Given the description of an element on the screen output the (x, y) to click on. 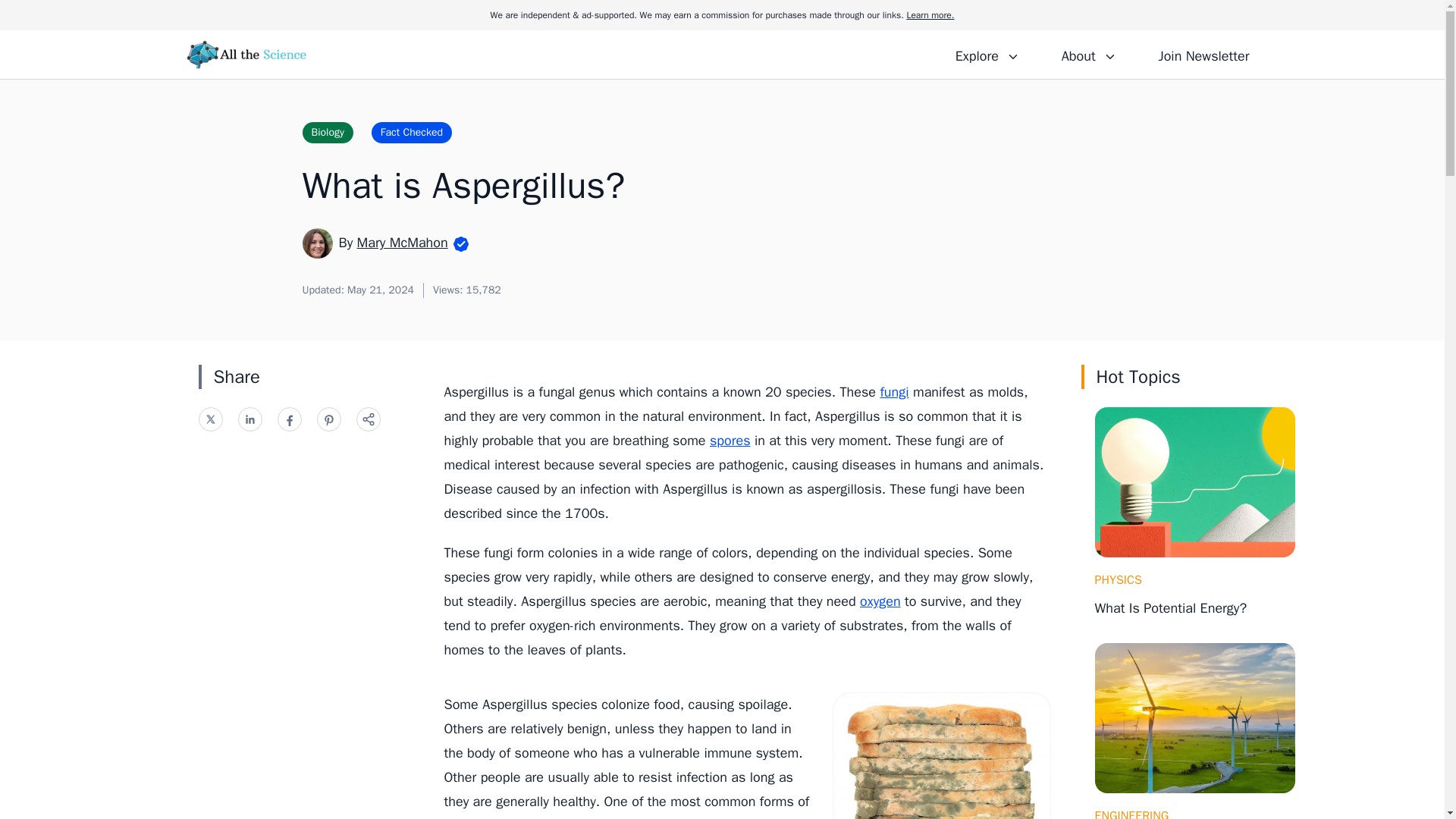
Join Newsletter (1202, 54)
Mary McMahon (402, 242)
Biology (326, 132)
oxygen (880, 600)
fungi (893, 392)
Learn more. (929, 15)
About (1088, 54)
Fact Checked (411, 132)
spores (730, 440)
Explore (986, 54)
